Given the description of an element on the screen output the (x, y) to click on. 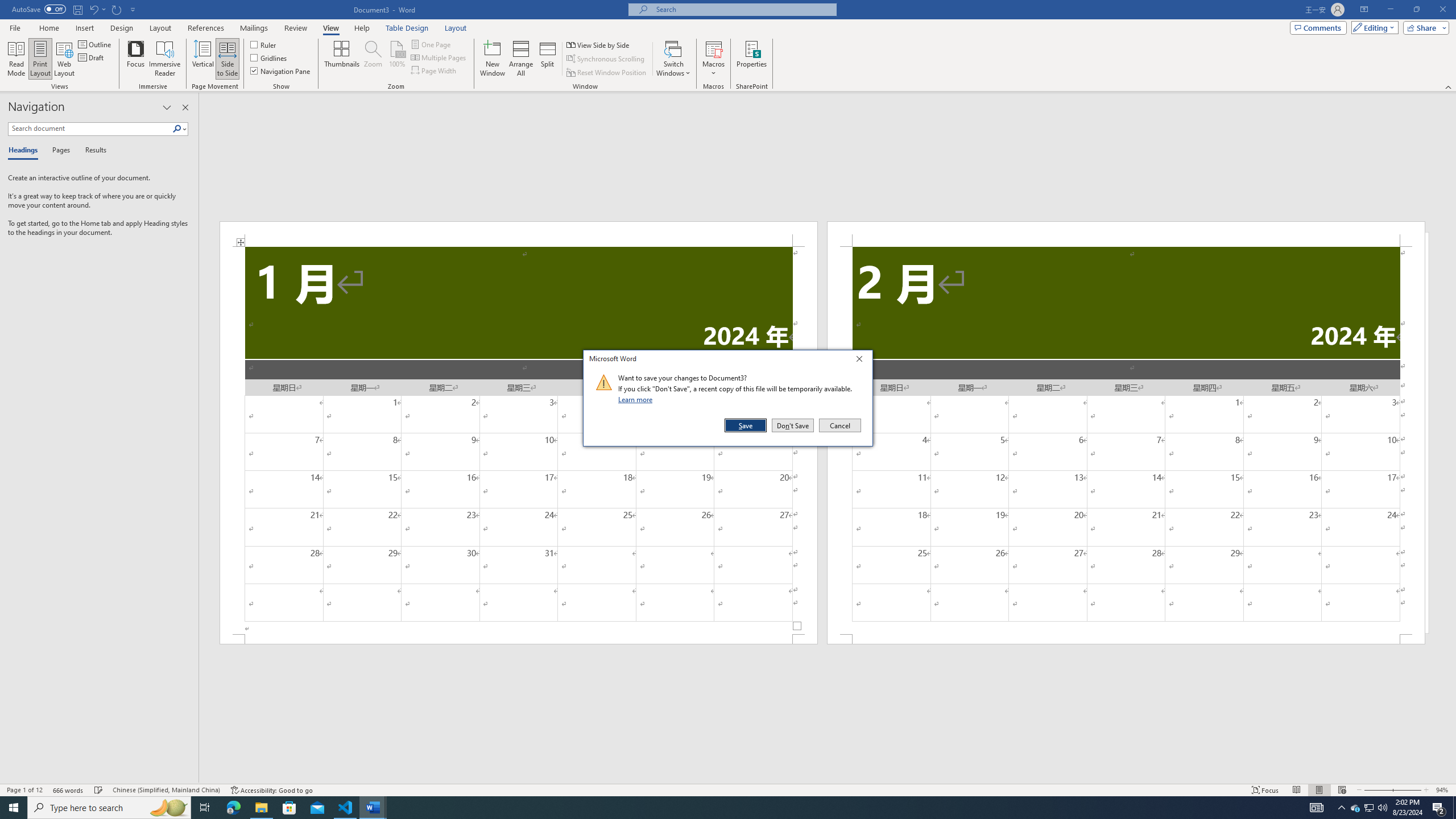
Macros (713, 58)
Arrange All (521, 58)
Page Width (434, 69)
